Given the description of an element on the screen output the (x, y) to click on. 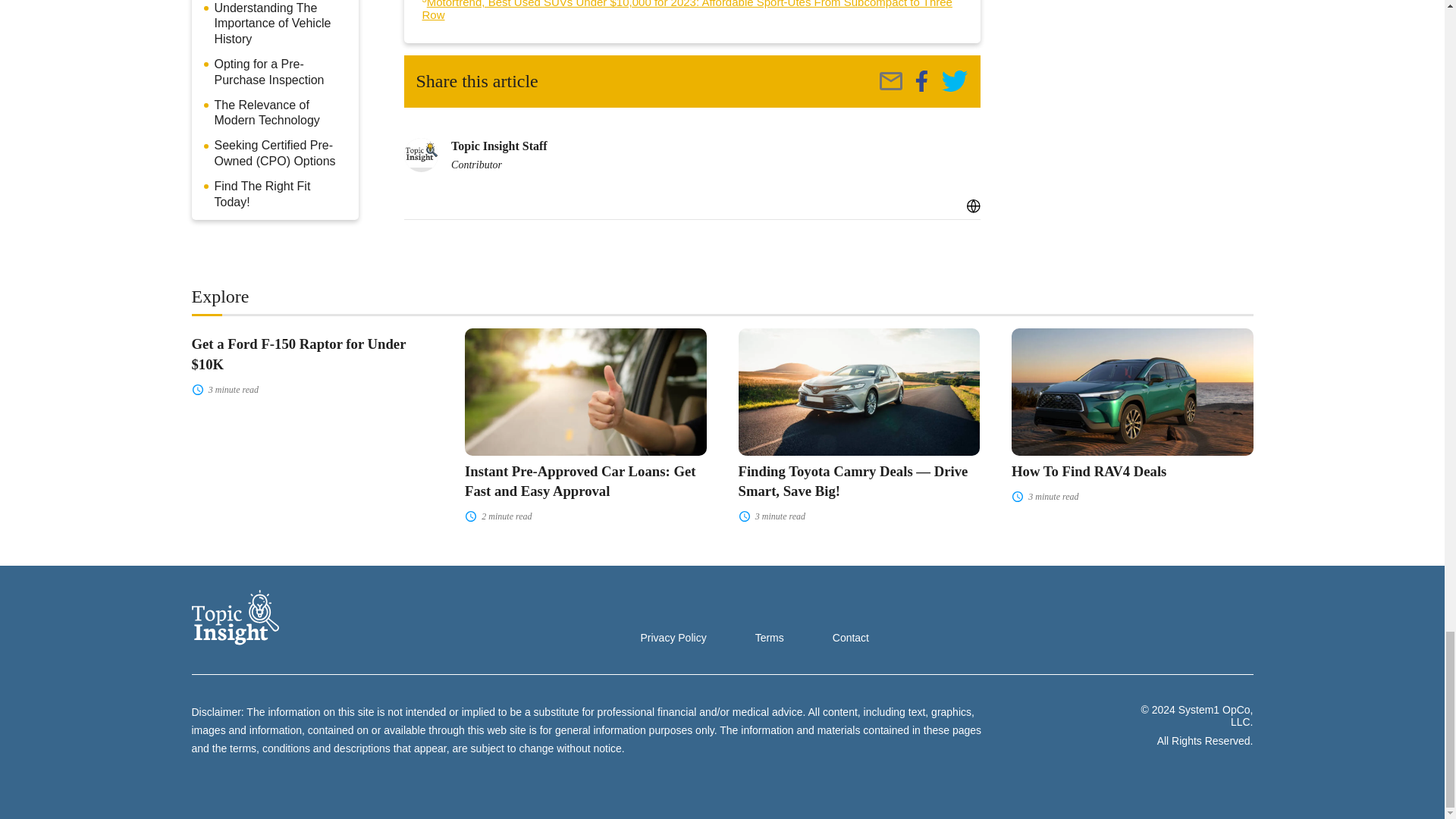
Share by Email (890, 81)
